Given the description of an element on the screen output the (x, y) to click on. 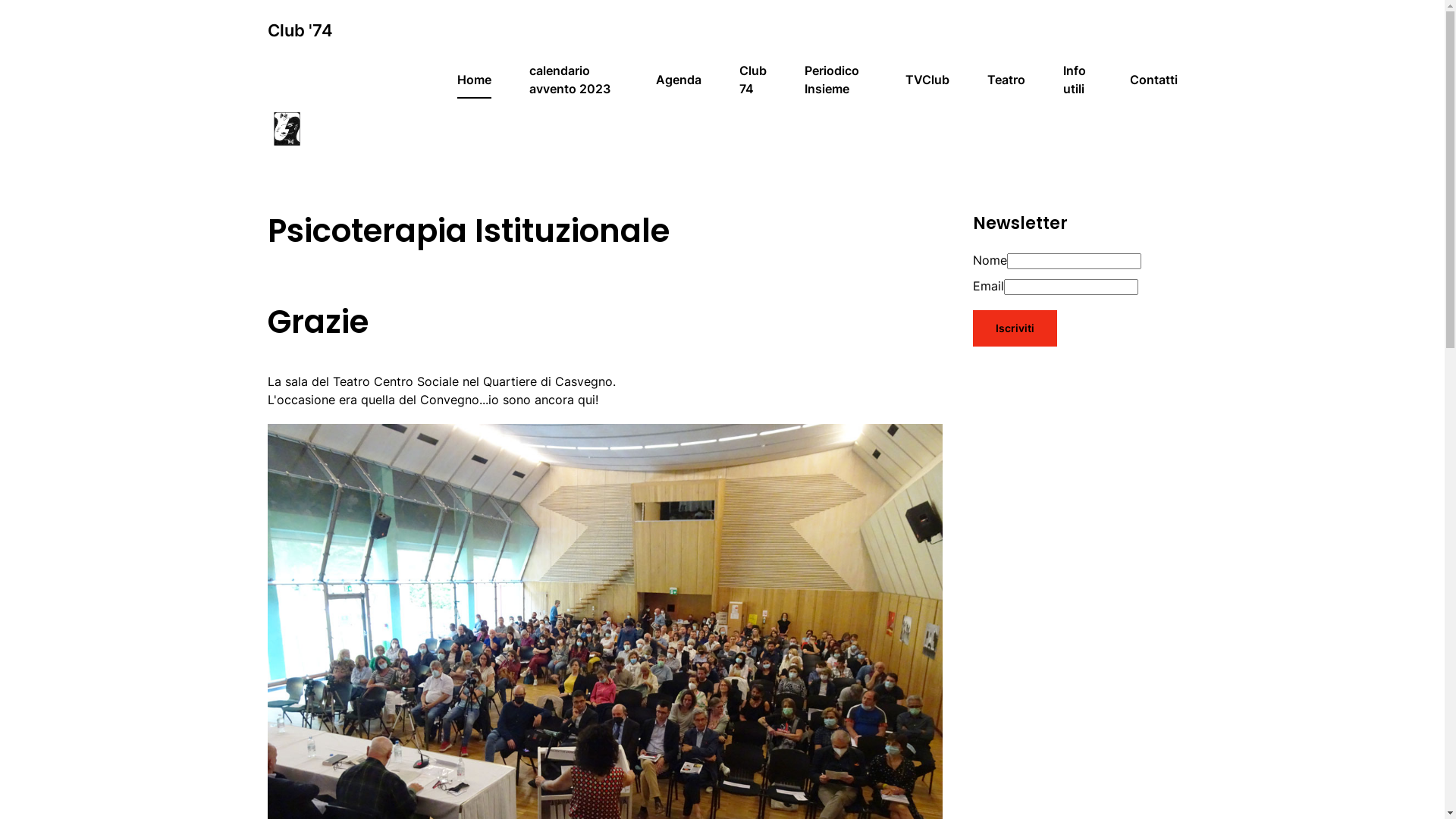
Club '74 Element type: text (299, 30)
Teatro Element type: text (1006, 79)
Club 74 Element type: text (752, 79)
Home Element type: text (474, 79)
Periodico Insieme Element type: text (835, 79)
calendario avvento 2023 Element type: text (573, 79)
Info utili Element type: text (1077, 79)
Iscriviti Element type: text (1014, 328)
TVClub Element type: text (927, 79)
Contatti Element type: text (1153, 79)
Grazie Element type: text (316, 321)
Agenda Element type: text (678, 79)
